Given the description of an element on the screen output the (x, y) to click on. 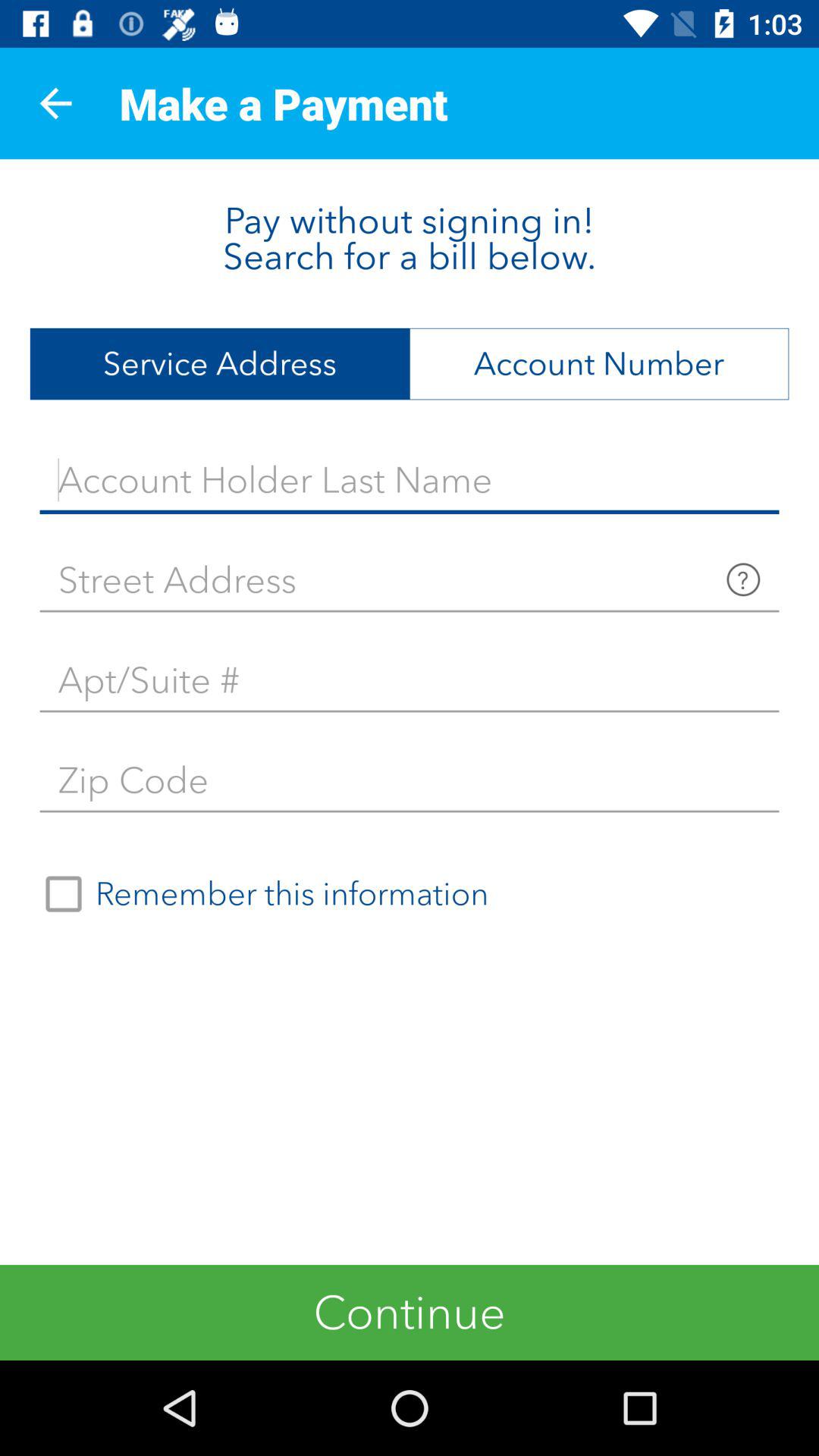
tap remember this information item (259, 893)
